Given the description of an element on the screen output the (x, y) to click on. 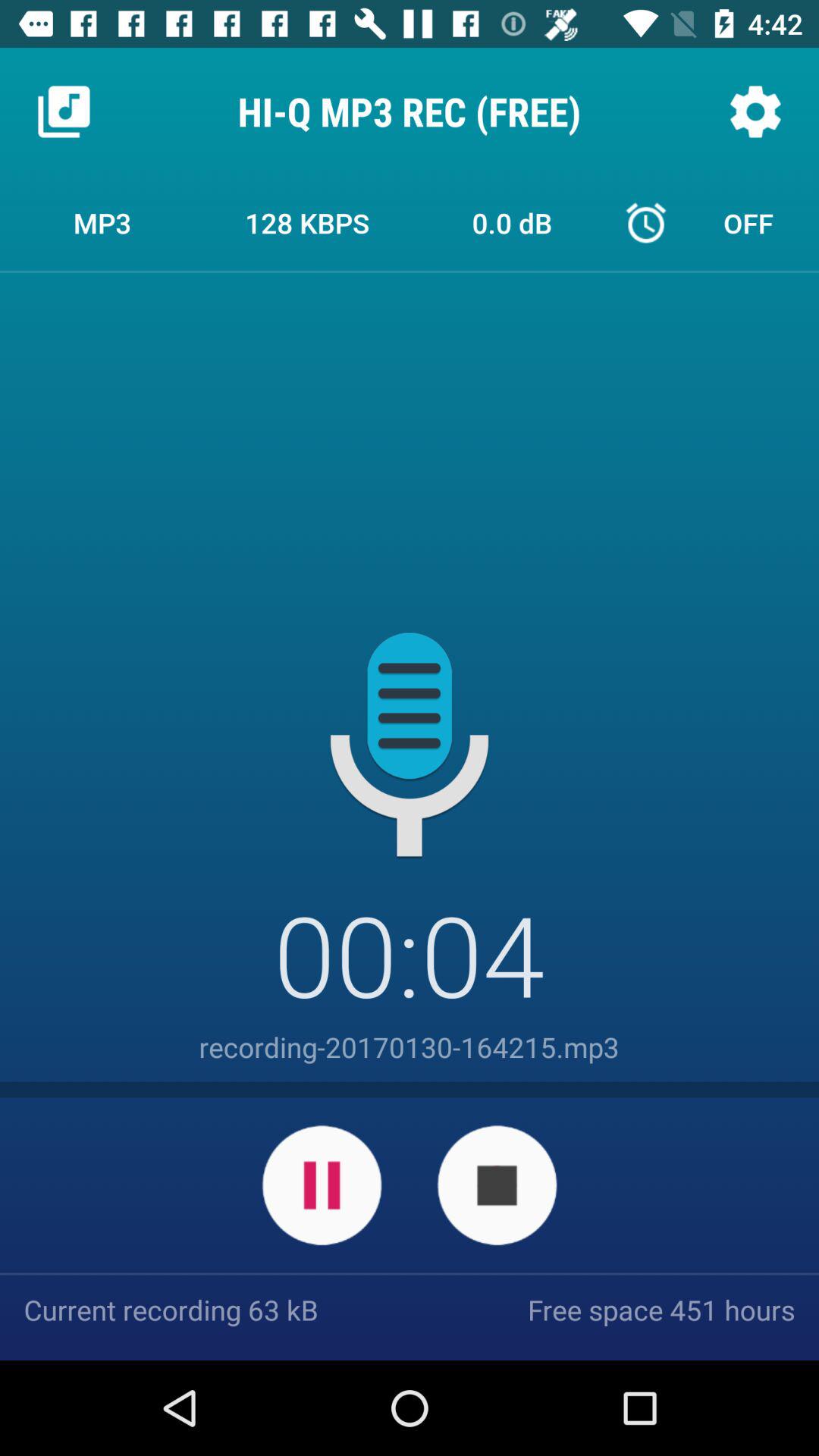
click item to the right of 128 kbps item (511, 222)
